Given the description of an element on the screen output the (x, y) to click on. 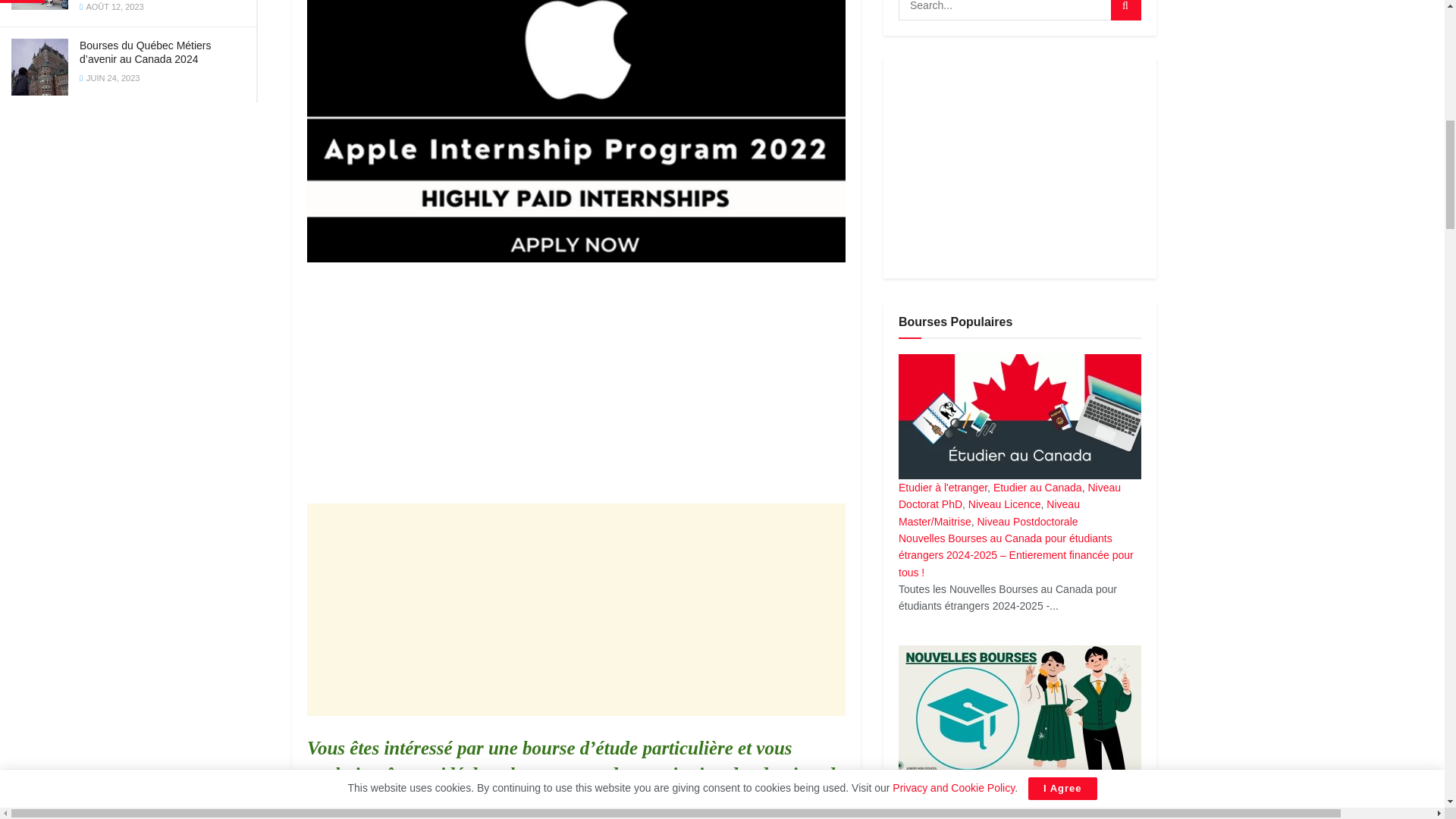
Advertisement (1019, 167)
Advertisement (576, 391)
Advertisement (576, 609)
